Given the description of an element on the screen output the (x, y) to click on. 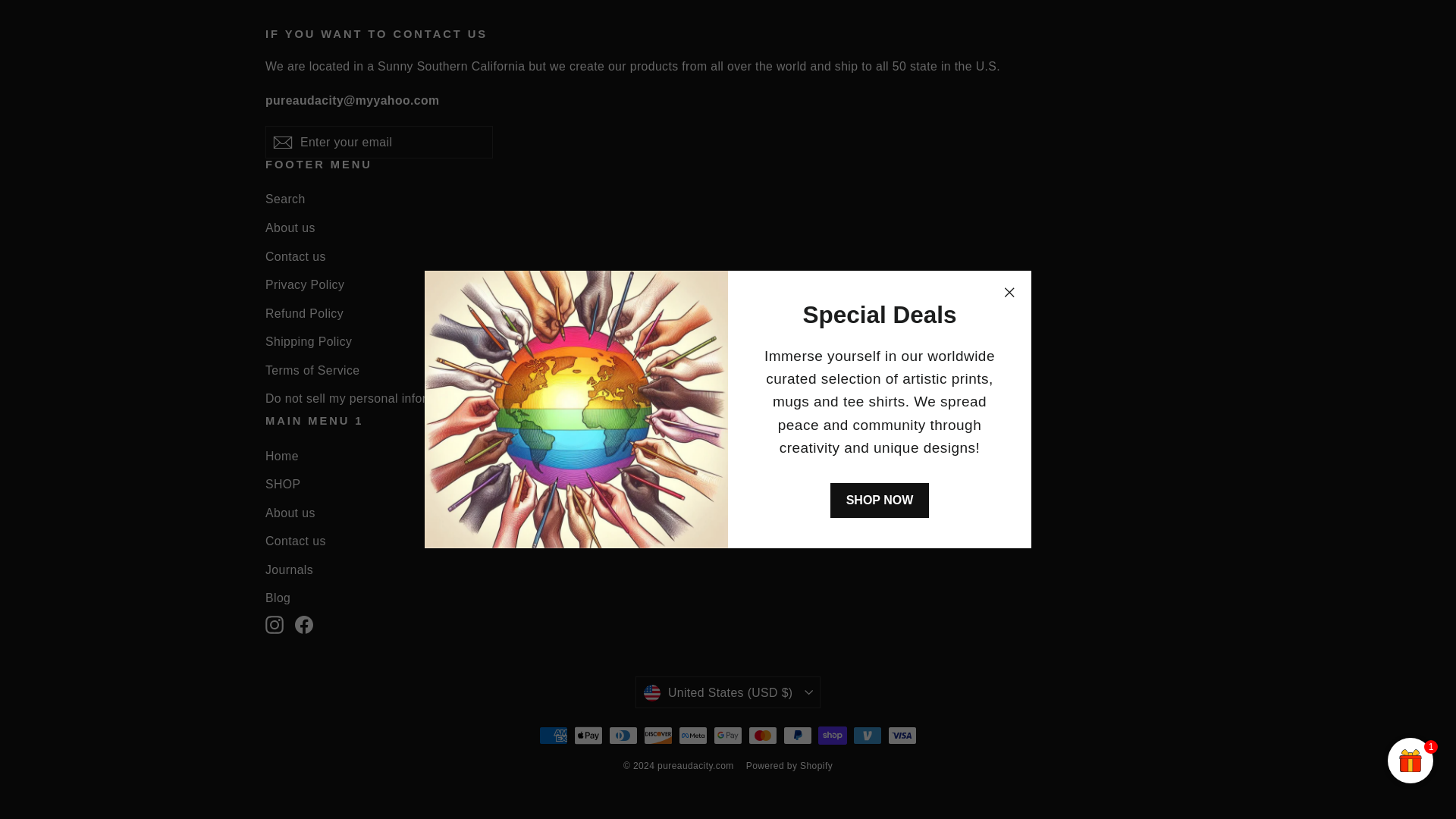
Google Pay (727, 735)
Meta Pay (692, 735)
Venmo (867, 735)
Mastercard (762, 735)
Apple Pay (587, 735)
Discover (657, 735)
Diners Club (622, 735)
instagram (273, 624)
American Express (552, 735)
PayPal (797, 735)
Shop Pay (832, 735)
icon-email (282, 142)
